Given the description of an element on the screen output the (x, y) to click on. 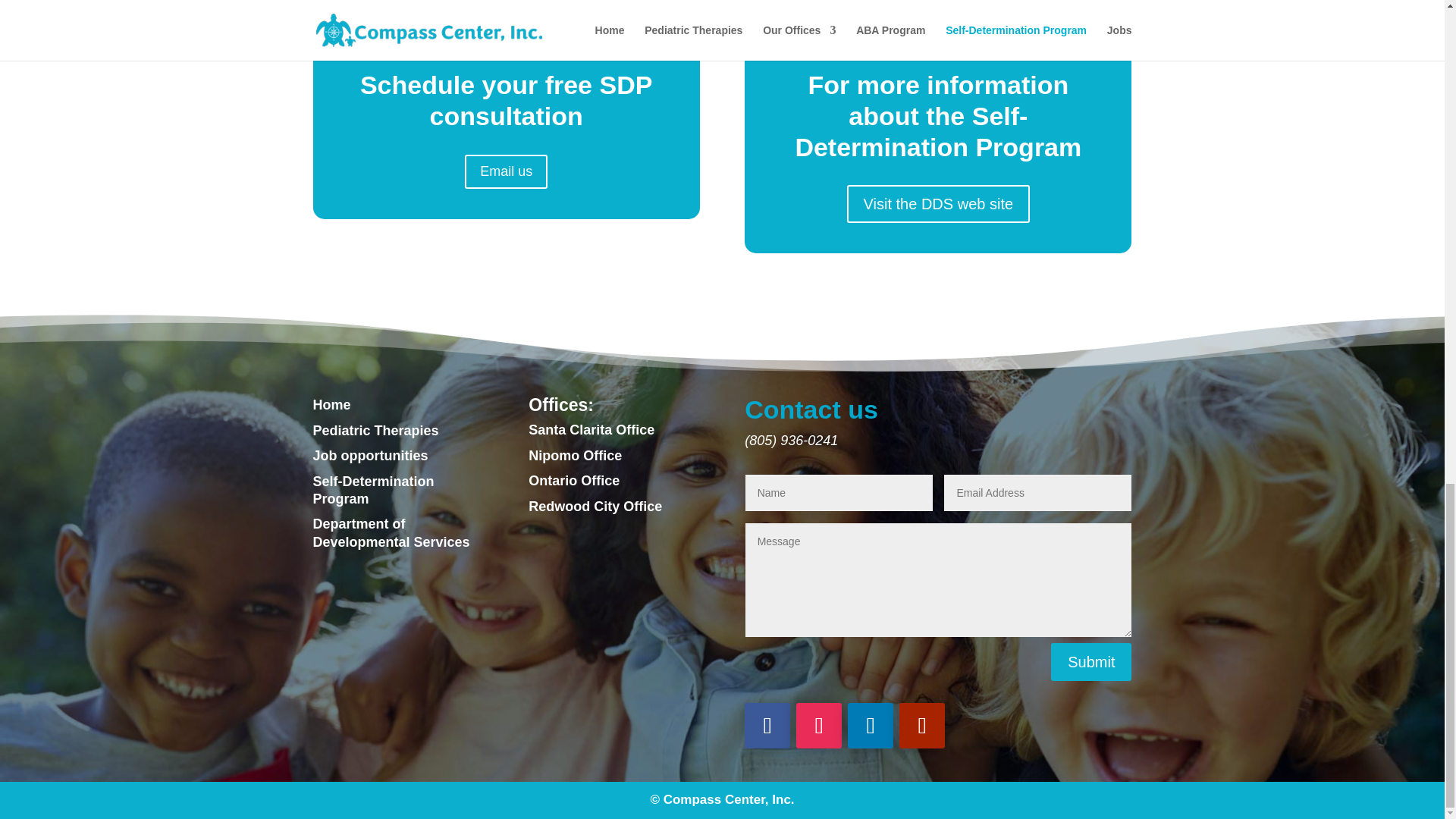
Email us (505, 171)
Follow on LinkedIn (870, 725)
Home (331, 404)
Redwood City Office (595, 506)
Visit the DDS web site (938, 203)
Job opportunities (370, 455)
Self-Determination Program (373, 490)
Follow on Youtube (921, 725)
Submit (1091, 661)
Nipomo Office (574, 455)
